Given the description of an element on the screen output the (x, y) to click on. 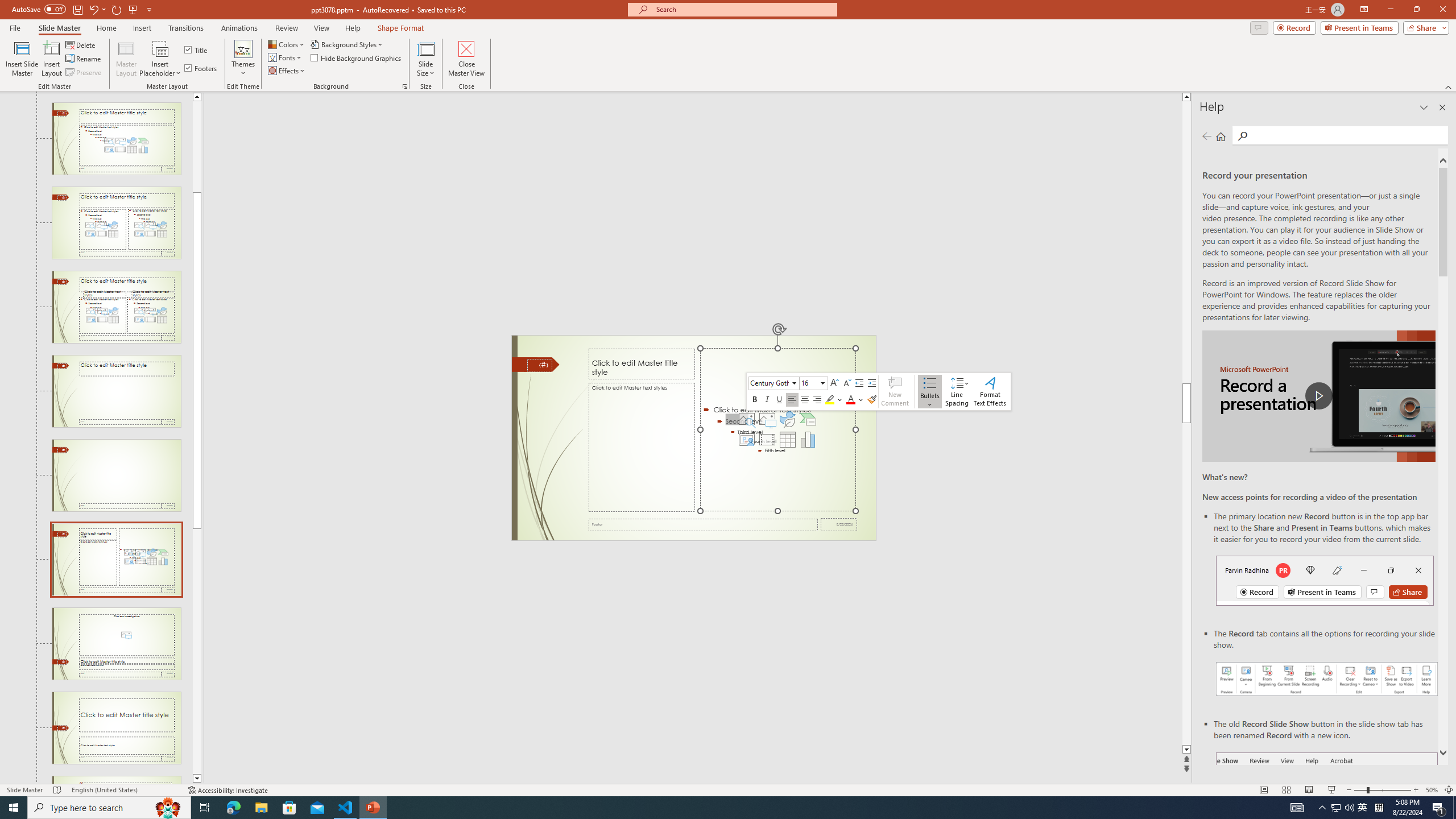
Slide Number (539, 364)
Slide Title and Content Layout: used by no slides (116, 138)
Format Text Effects... (990, 391)
Slide Size (425, 58)
Colors (287, 44)
Slide Master (59, 28)
Slide Picture with Caption Layout: used by no slides (116, 643)
